Given the description of an element on the screen output the (x, y) to click on. 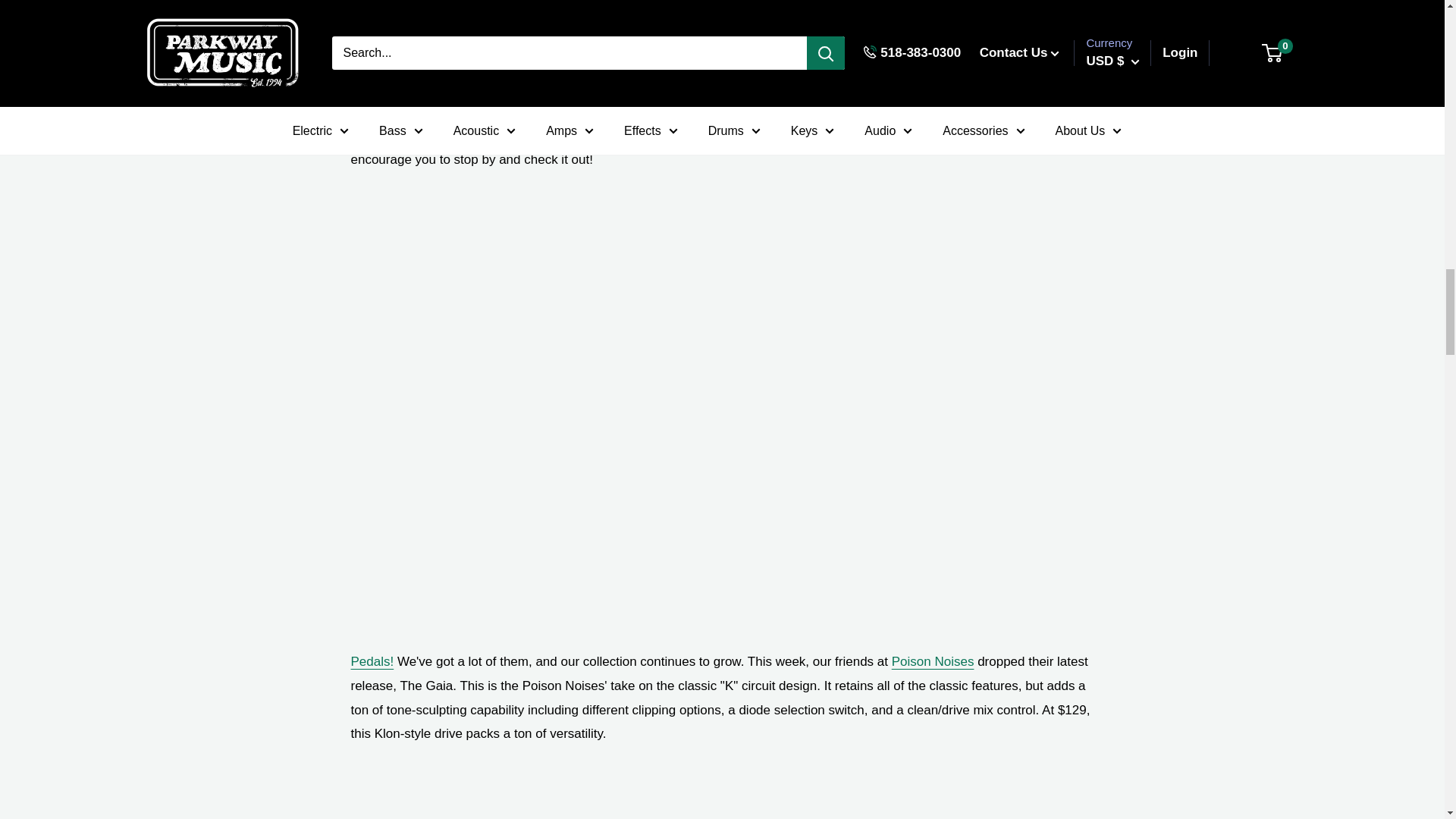
YouTube video player (721, 801)
